Given the description of an element on the screen output the (x, y) to click on. 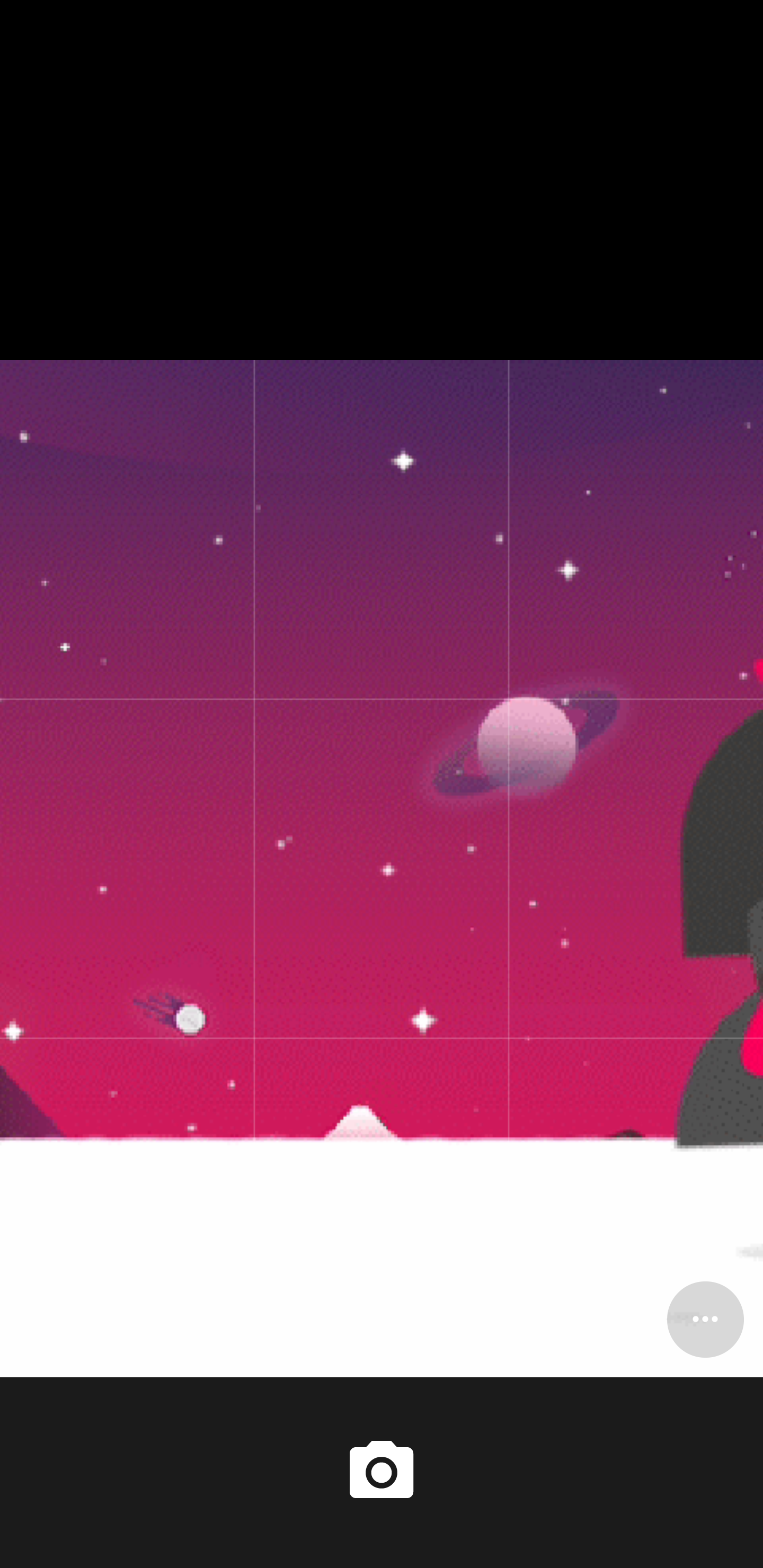
Options (704, 1319)
Shutter (381, 1472)
